Given the description of an element on the screen output the (x, y) to click on. 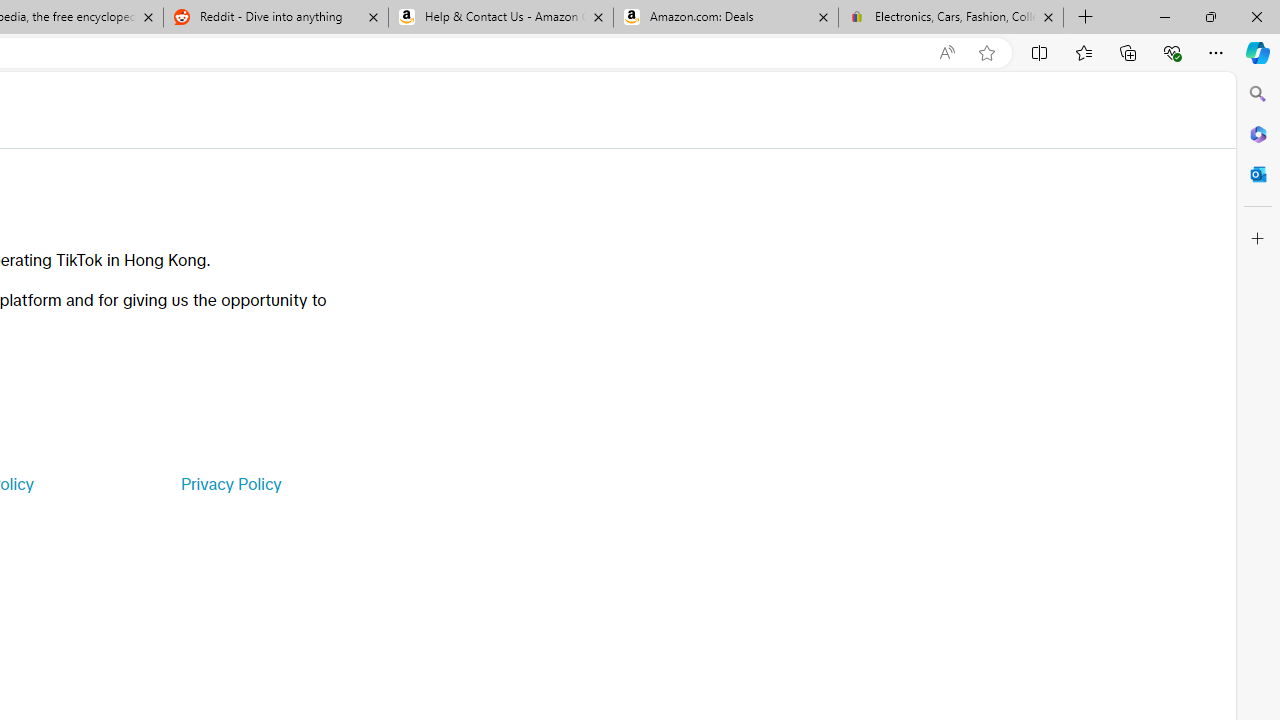
Amazon.com: Deals (726, 17)
